Given the description of an element on the screen output the (x, y) to click on. 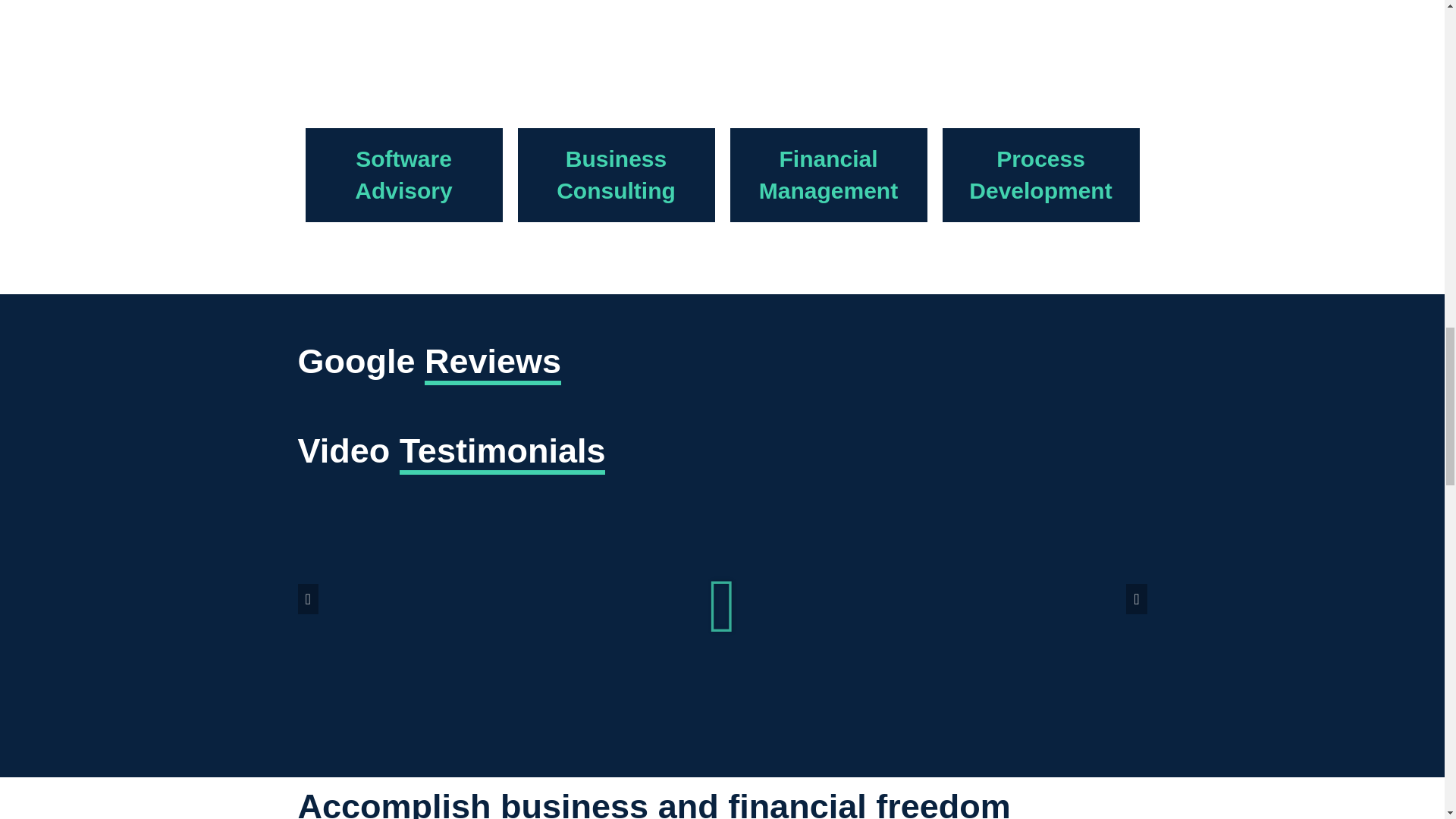
Process Development (828, 174)
